Given the description of an element on the screen output the (x, y) to click on. 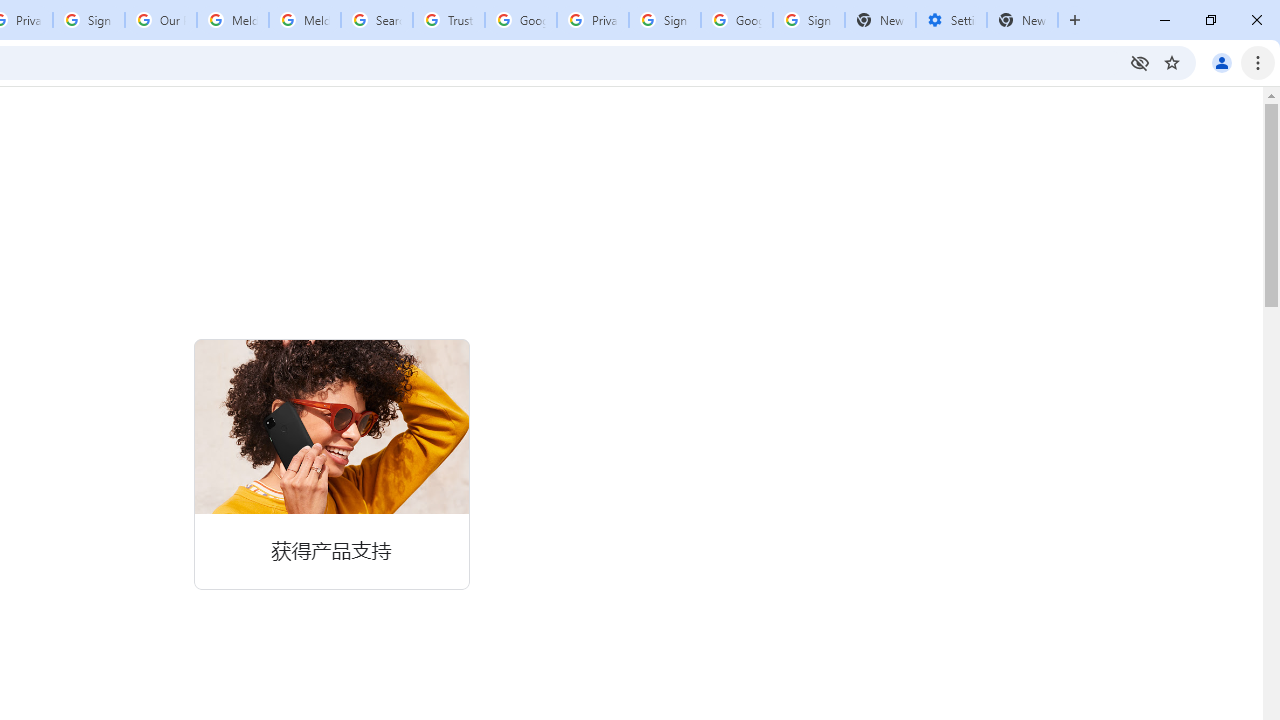
Third-party cookies blocked (1139, 62)
Google Ads - Sign in (520, 20)
Trusted Information and Content - Google Safety Center (449, 20)
Sign in - Google Accounts (664, 20)
Sign in - Google Accounts (88, 20)
New Tab (1022, 20)
